Given the description of an element on the screen output the (x, y) to click on. 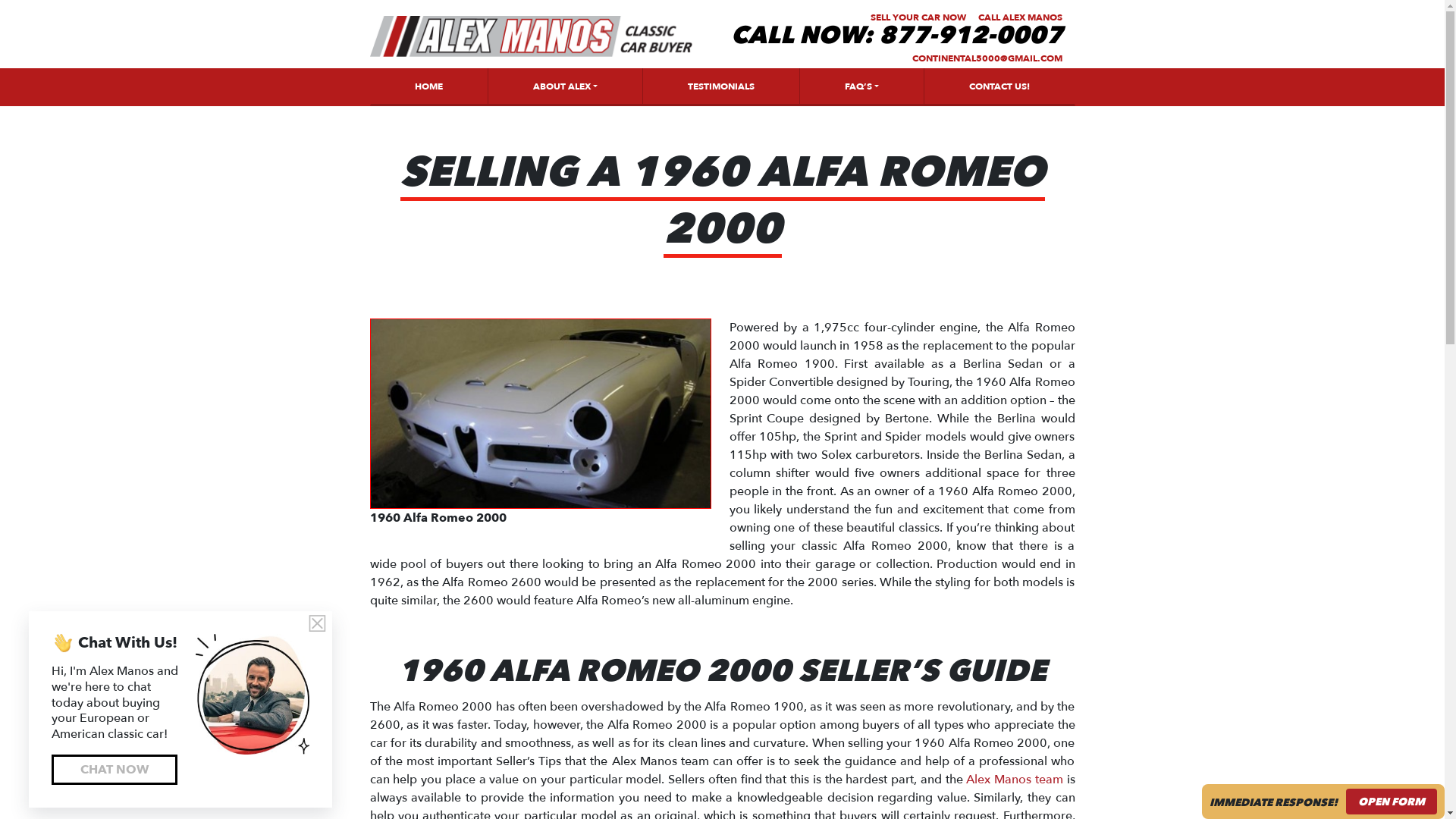
HOME (428, 86)
TESTIMONIALS (720, 86)
Home (428, 86)
ABOUT ALEX (564, 86)
Home (531, 35)
Testimonials (720, 86)
1960 Alfa Romeo 2000 (540, 413)
Alex Manos team (1014, 779)
Contact Us! (999, 86)
CONTACT US! (999, 86)
About Alex (564, 86)
CALL NOW: 877-912-0007 (896, 35)
